Given the description of an element on the screen output the (x, y) to click on. 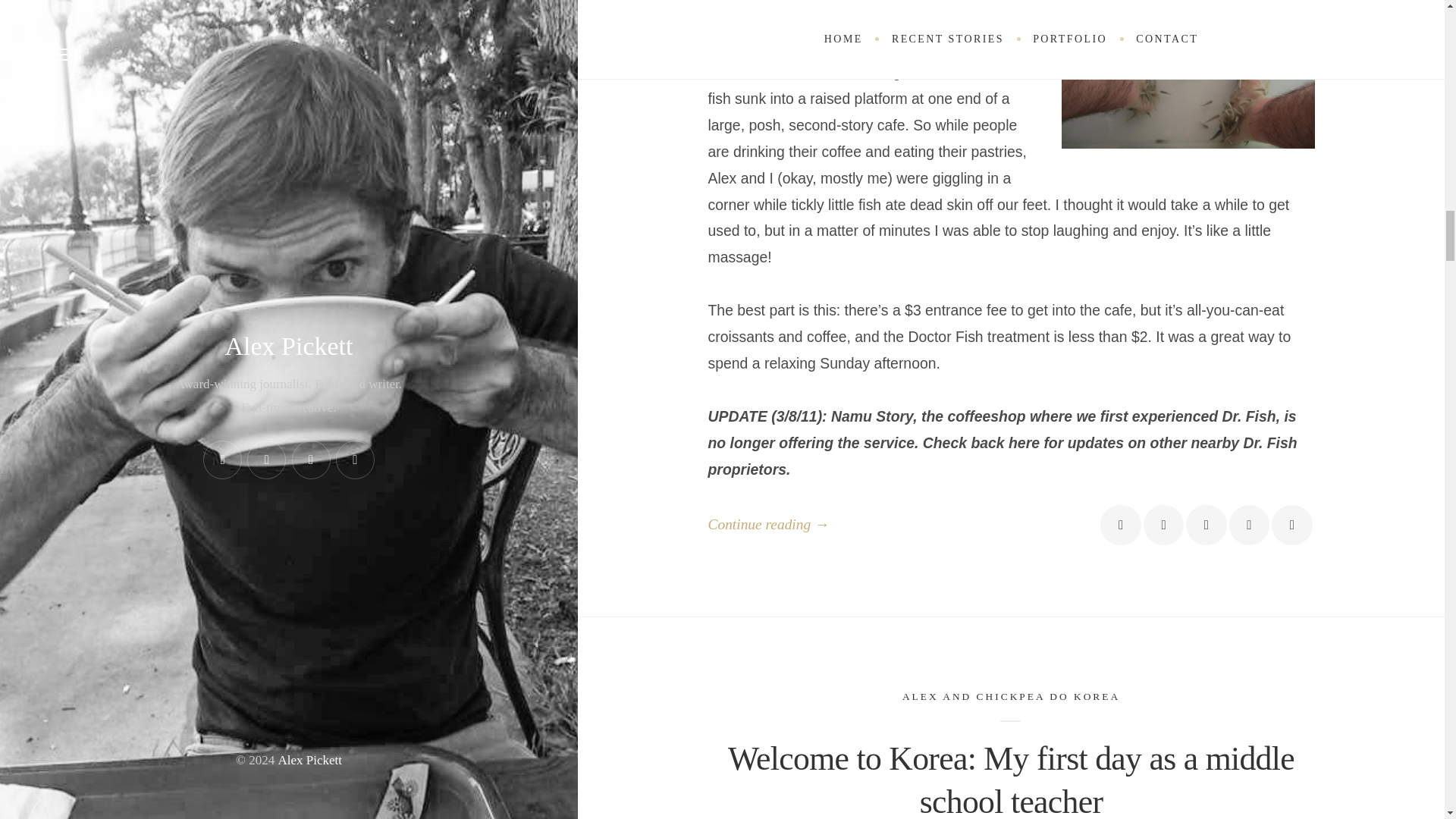
Tweet It (1162, 525)
Share on Google Plus (1205, 525)
Share on Facebook (1120, 525)
Share on Tumblr (1291, 525)
Dr Fish (1187, 74)
Pin It (1248, 525)
